Given the description of an element on the screen output the (x, y) to click on. 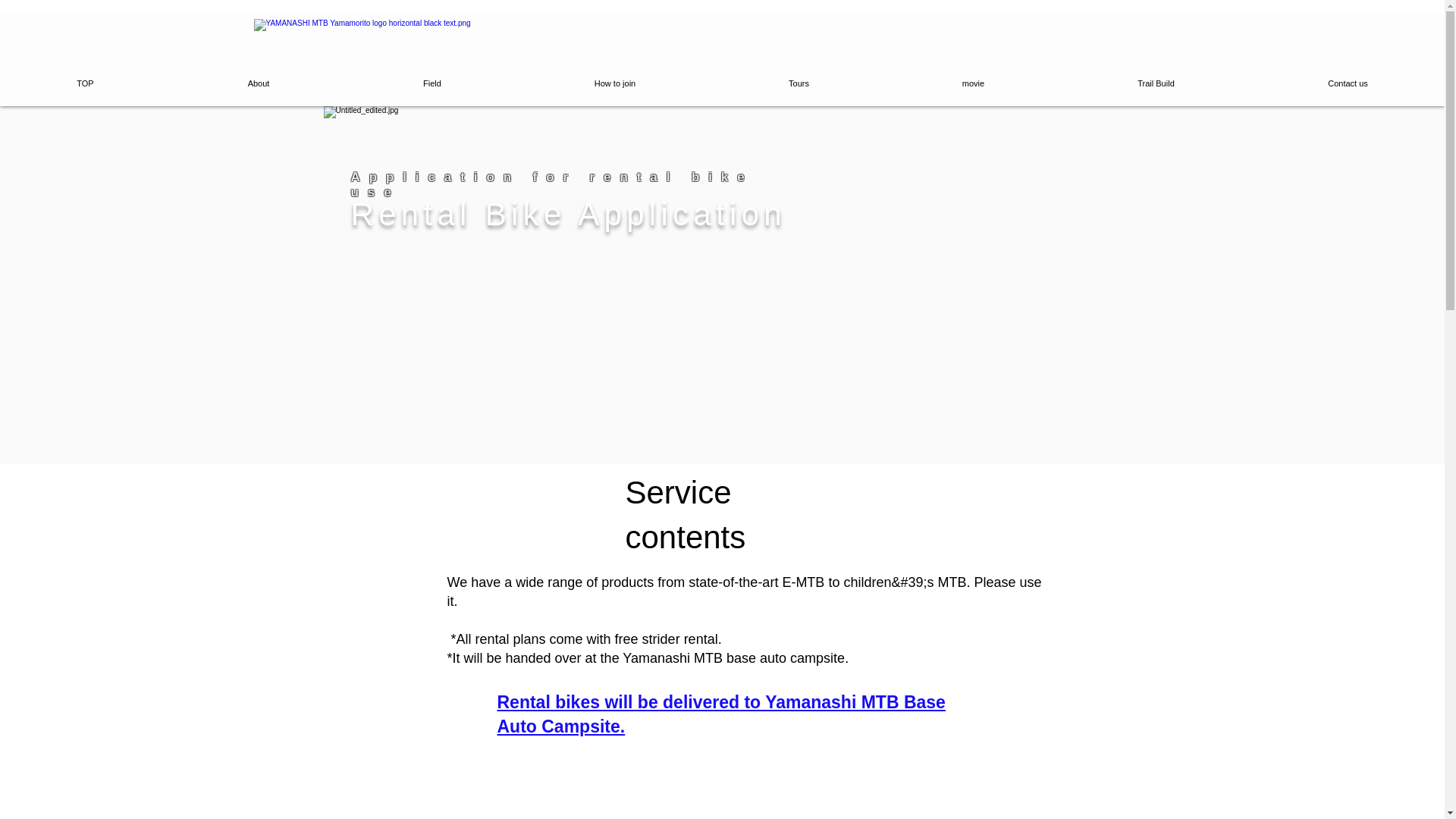
Trail Build (1155, 83)
movie (973, 83)
Field (432, 83)
Tours (798, 83)
About (258, 83)
How to join (614, 83)
TOP (85, 83)
